Given the description of an element on the screen output the (x, y) to click on. 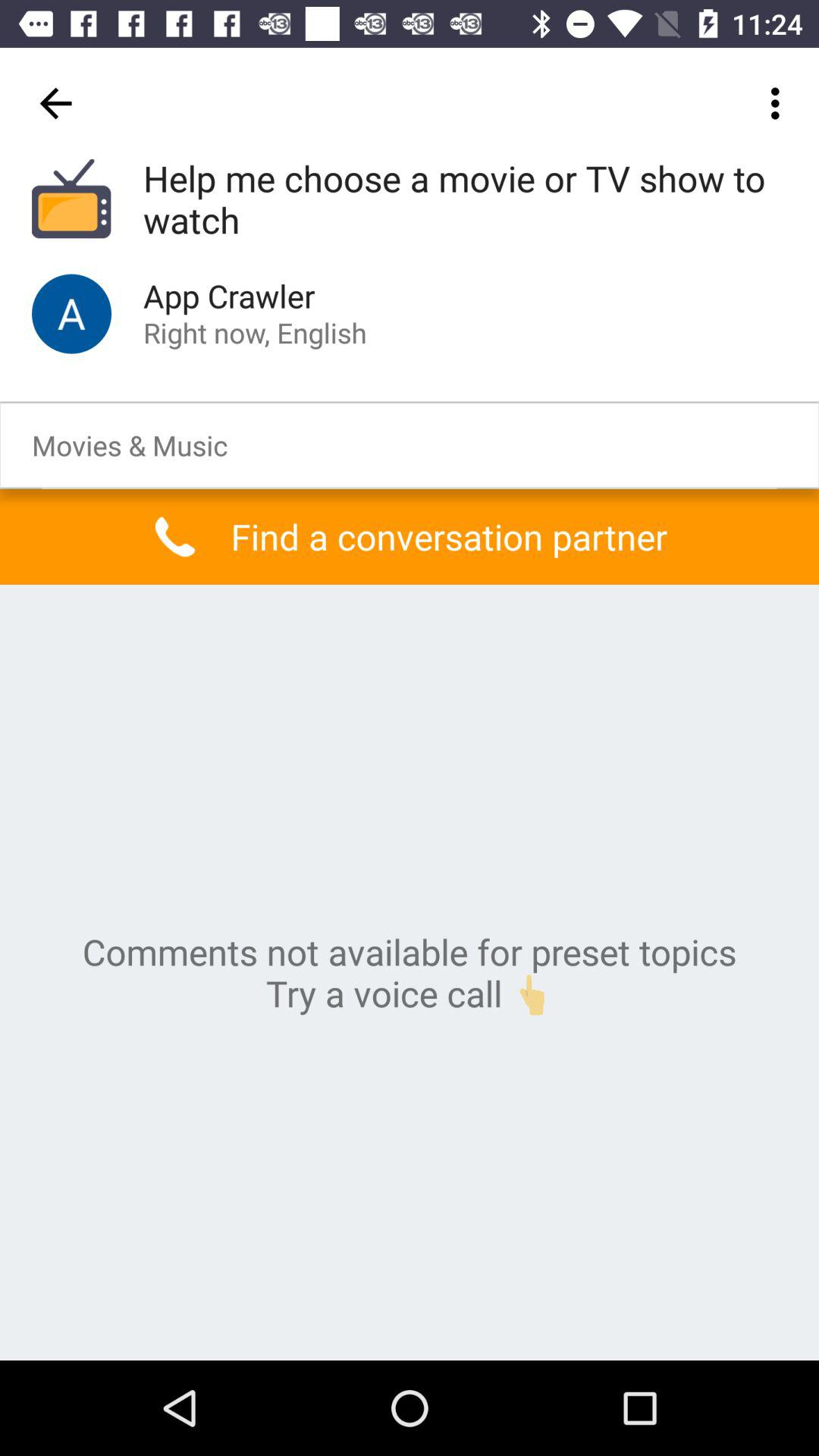
press the icon above the app crawler (465, 200)
